Given the description of an element on the screen output the (x, y) to click on. 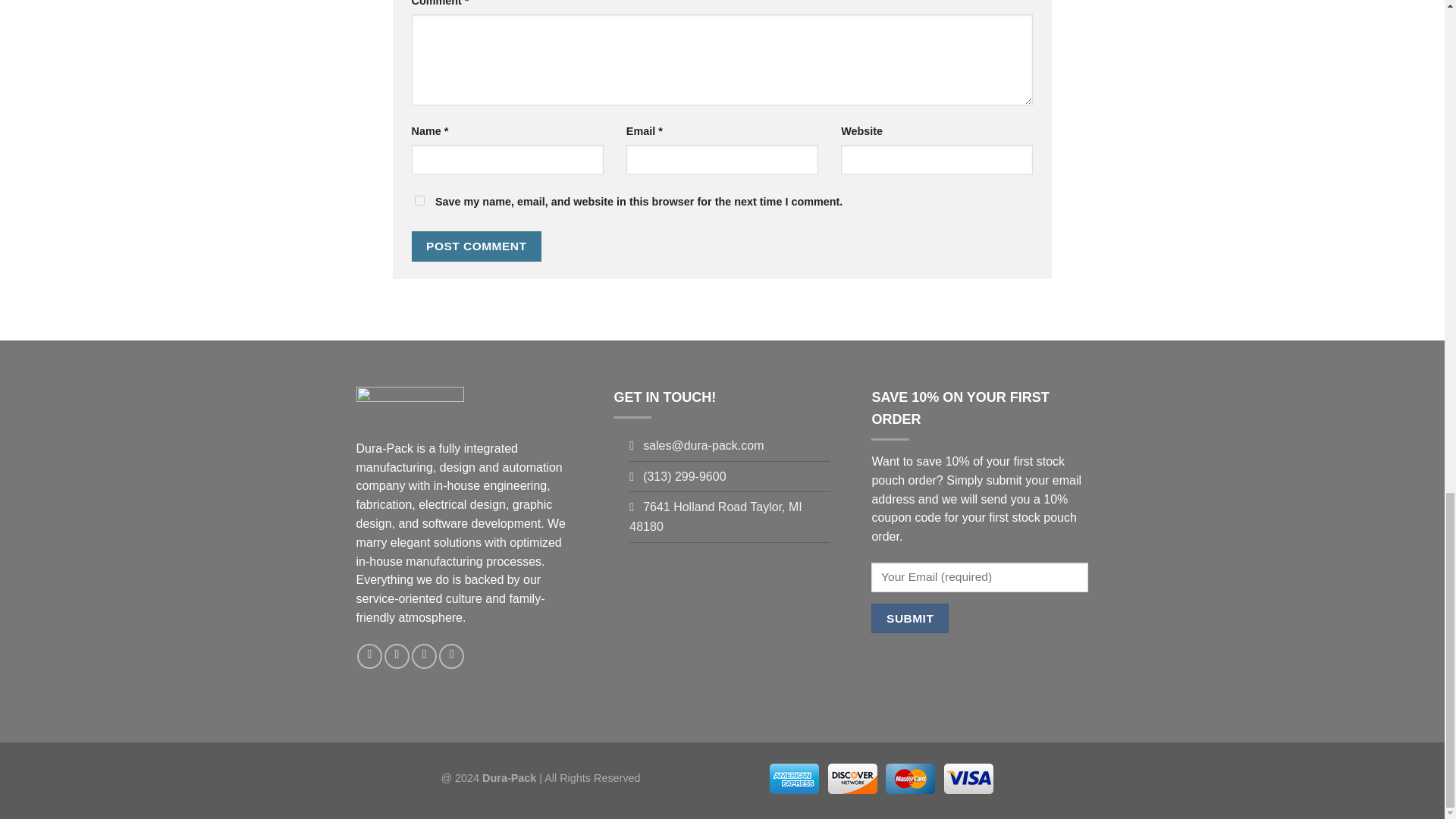
yes (418, 200)
SUBMIT (908, 618)
Post Comment (475, 245)
